Given the description of an element on the screen output the (x, y) to click on. 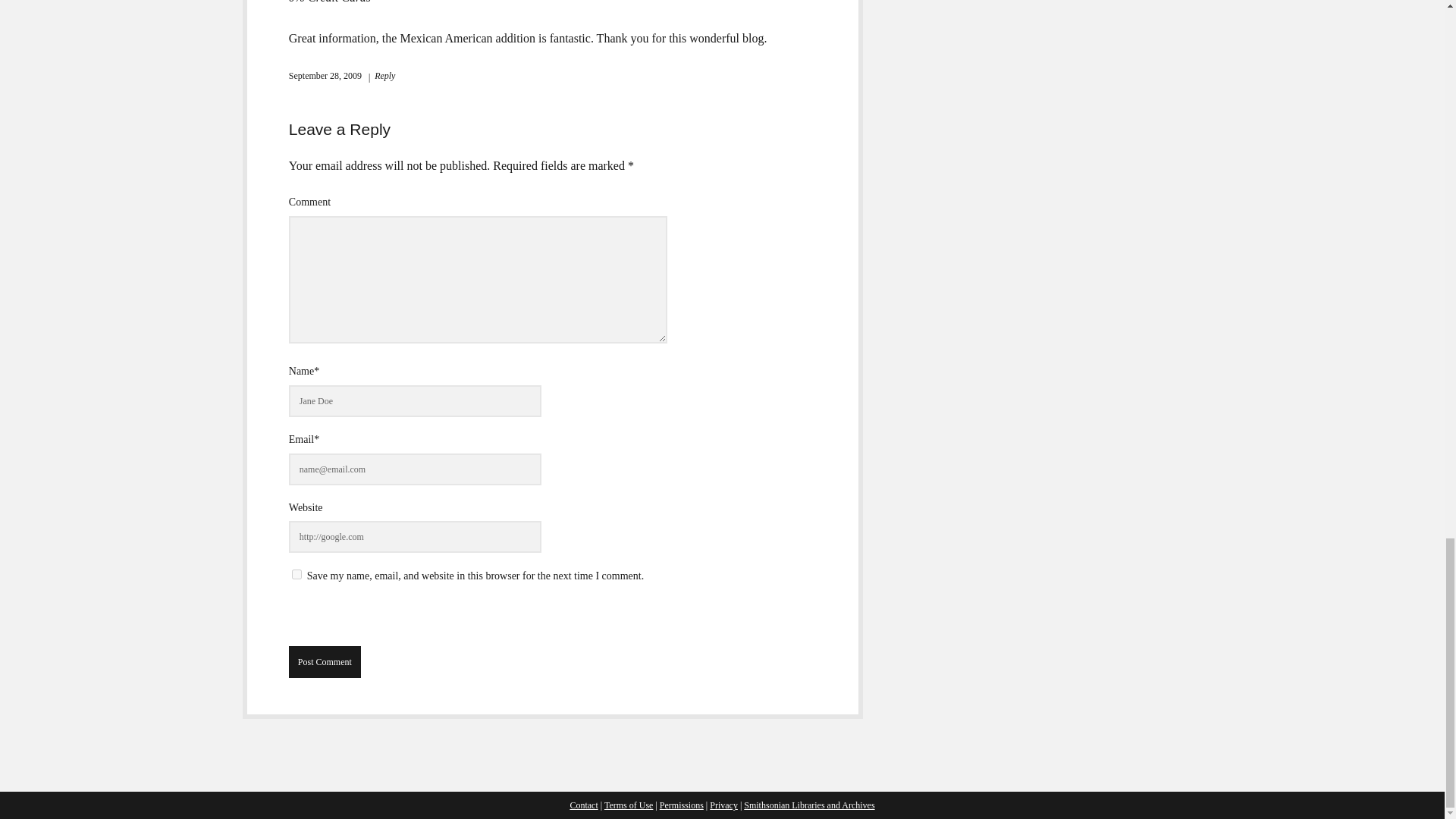
Reply (381, 75)
Privacy (724, 805)
Post Comment (324, 662)
yes (296, 574)
Contact (582, 805)
Terms of Use (628, 805)
Permissions (681, 805)
Smithsonian Libraries and Archives (809, 805)
Post Comment (324, 662)
